Given the description of an element on the screen output the (x, y) to click on. 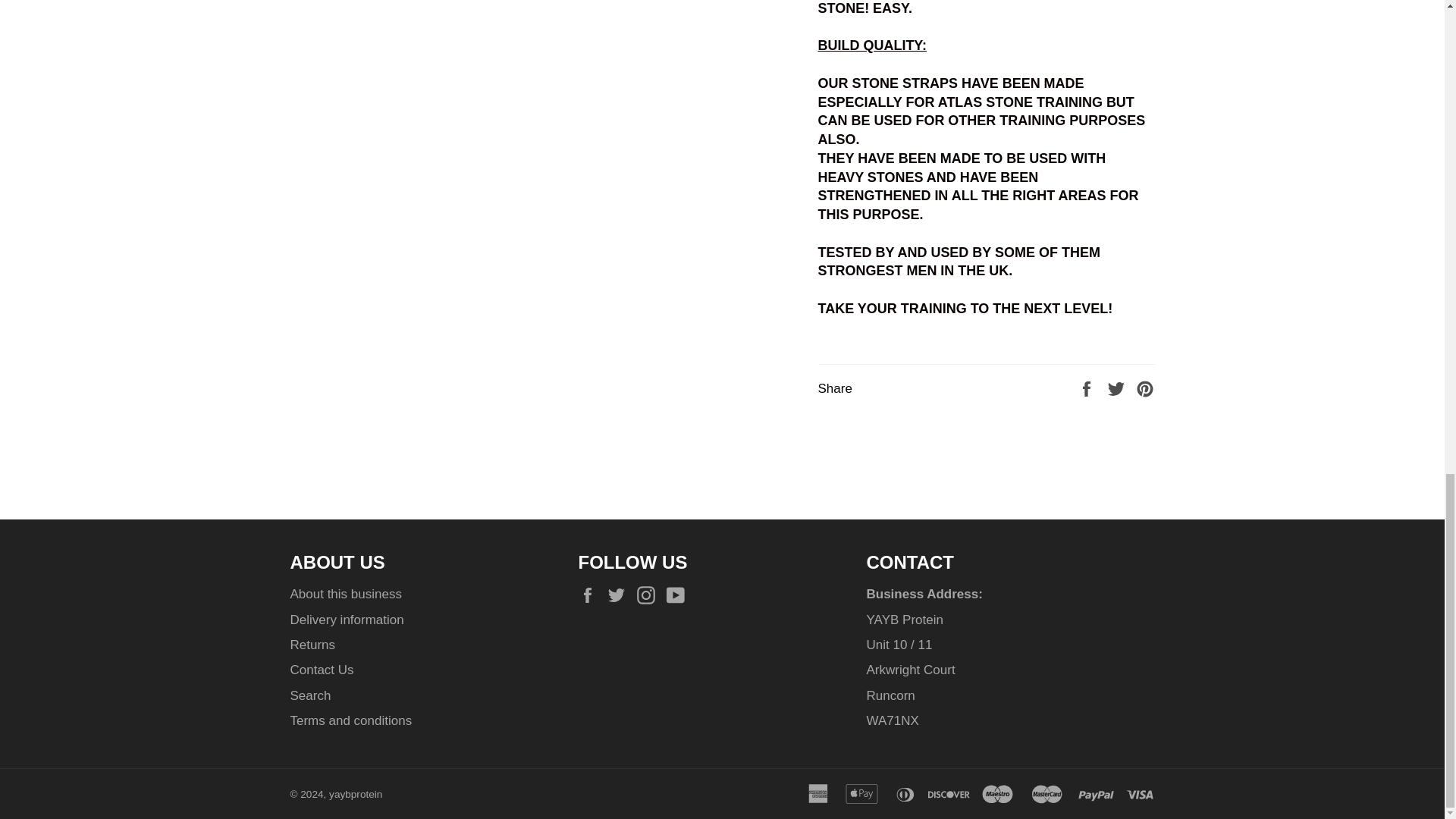
yaybprotein on Facebook (591, 594)
Tweet on Twitter (1117, 388)
yaybprotein on Instagram (649, 594)
yaybprotein on YouTube (679, 594)
Pin on Pinterest (1144, 388)
yaybprotein on Twitter (620, 594)
Share on Facebook (1088, 388)
